Given the description of an element on the screen output the (x, y) to click on. 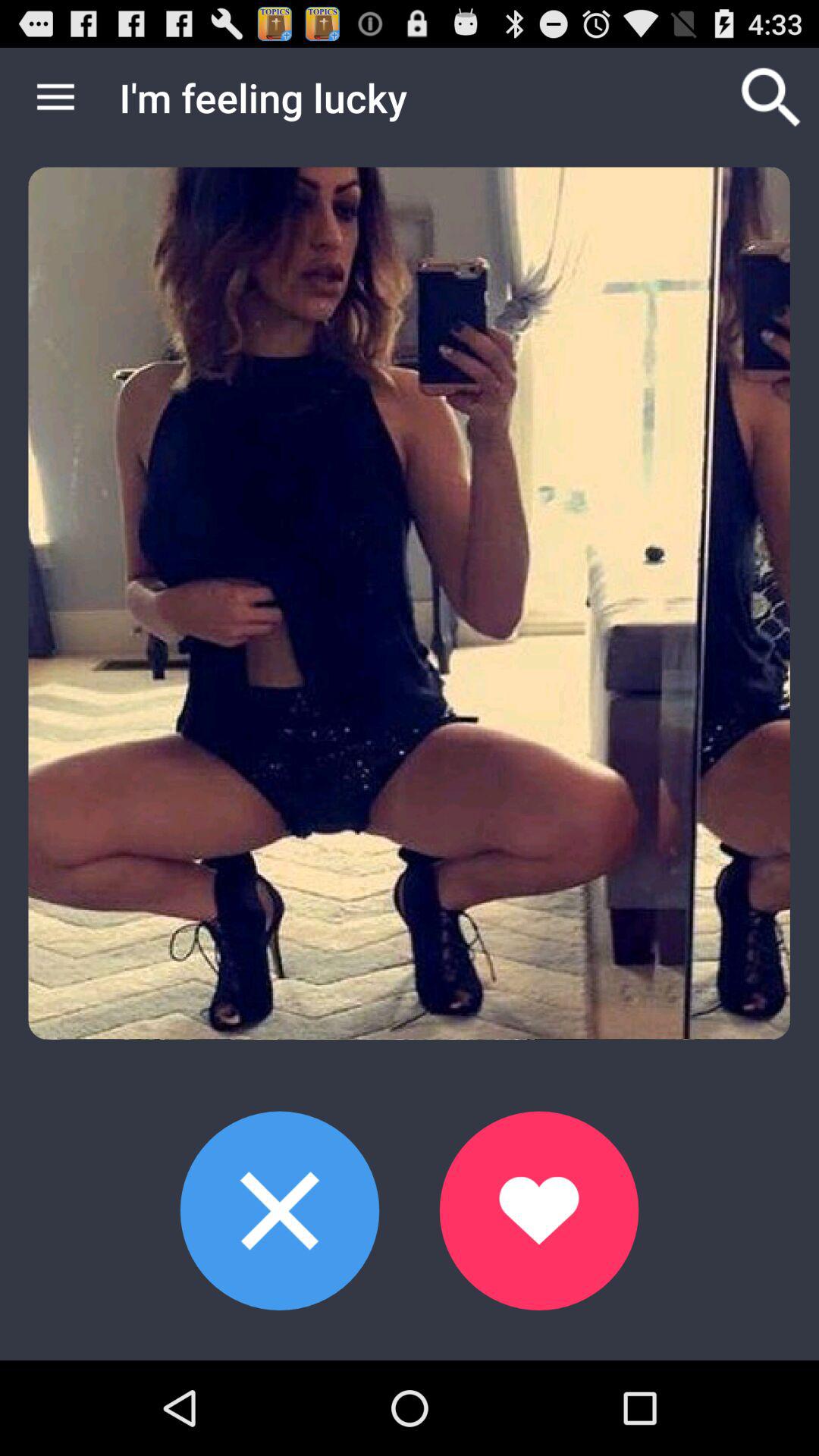
accept (538, 1210)
